Given the description of an element on the screen output the (x, y) to click on. 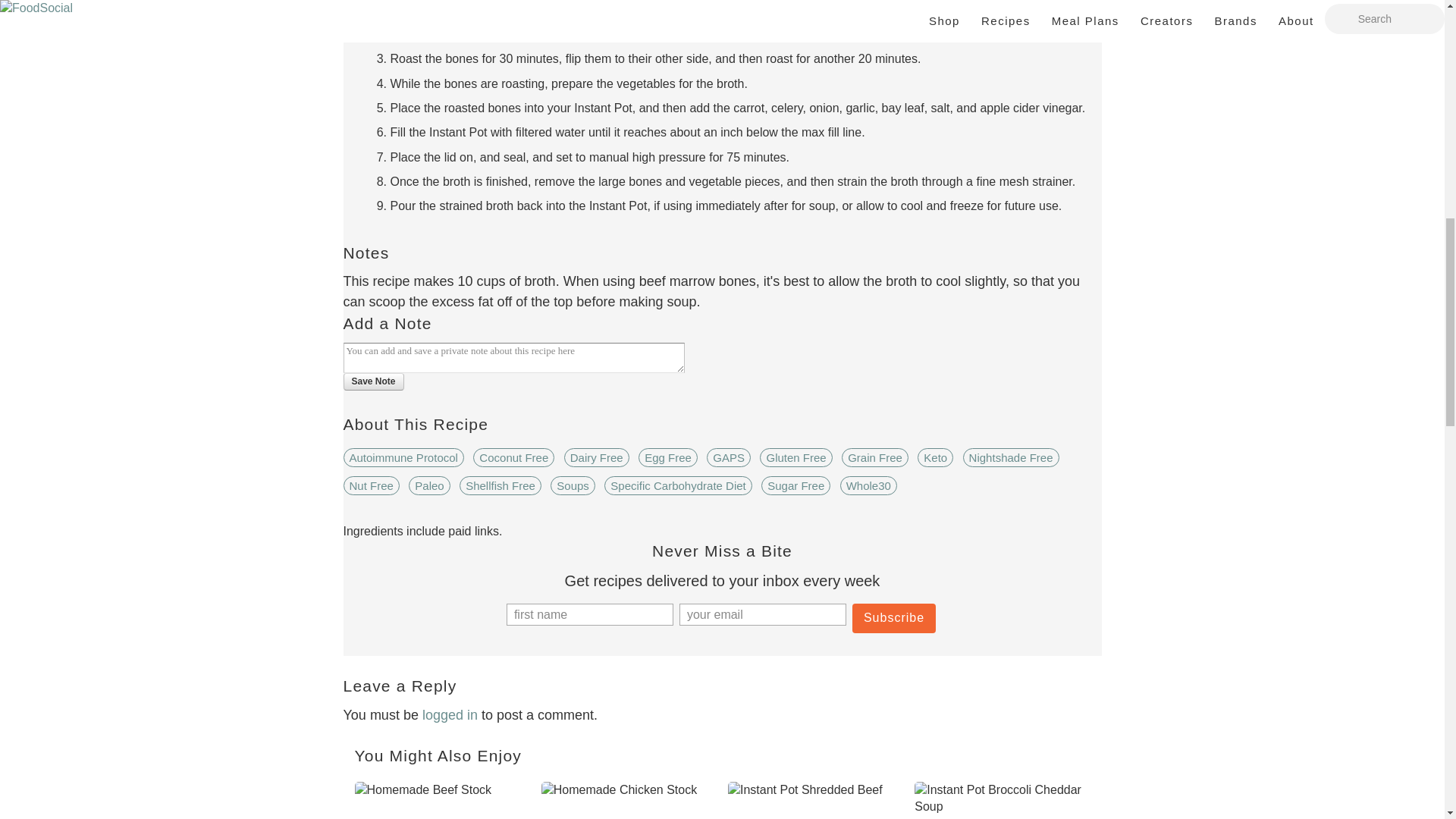
Subscribe (893, 618)
Save Note (372, 382)
Homemade Beef Stock (442, 800)
Instant Pot Broccoli Cheddar Soup (1001, 800)
Homemade Chicken Stock (628, 800)
Instant Pot Shredded Beef (815, 800)
